Given the description of an element on the screen output the (x, y) to click on. 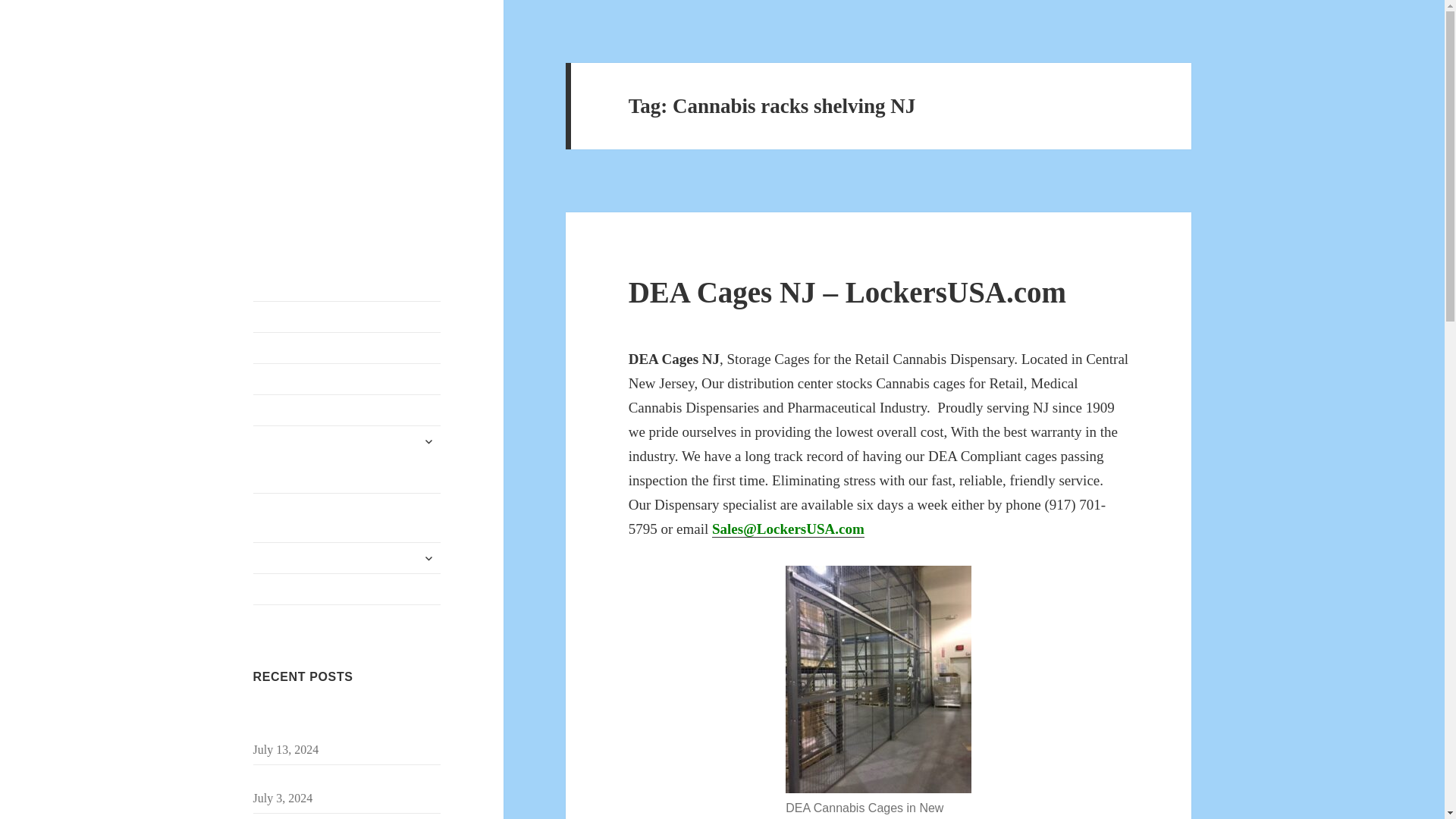
Tenant Storage Cages NYC (347, 317)
expand child menu (428, 558)
Building Access Cages (347, 409)
Security Storage Cage Monmouth County (336, 721)
Lockers NJ (347, 589)
Machine Guarding Cages (347, 557)
DEA Cannabis Storage Cages NJ (347, 378)
LockersUSA (314, 74)
Tenant Storage Cages Elizabeth NJ (338, 779)
Machine Guarding Cages (347, 557)
